Given the description of an element on the screen output the (x, y) to click on. 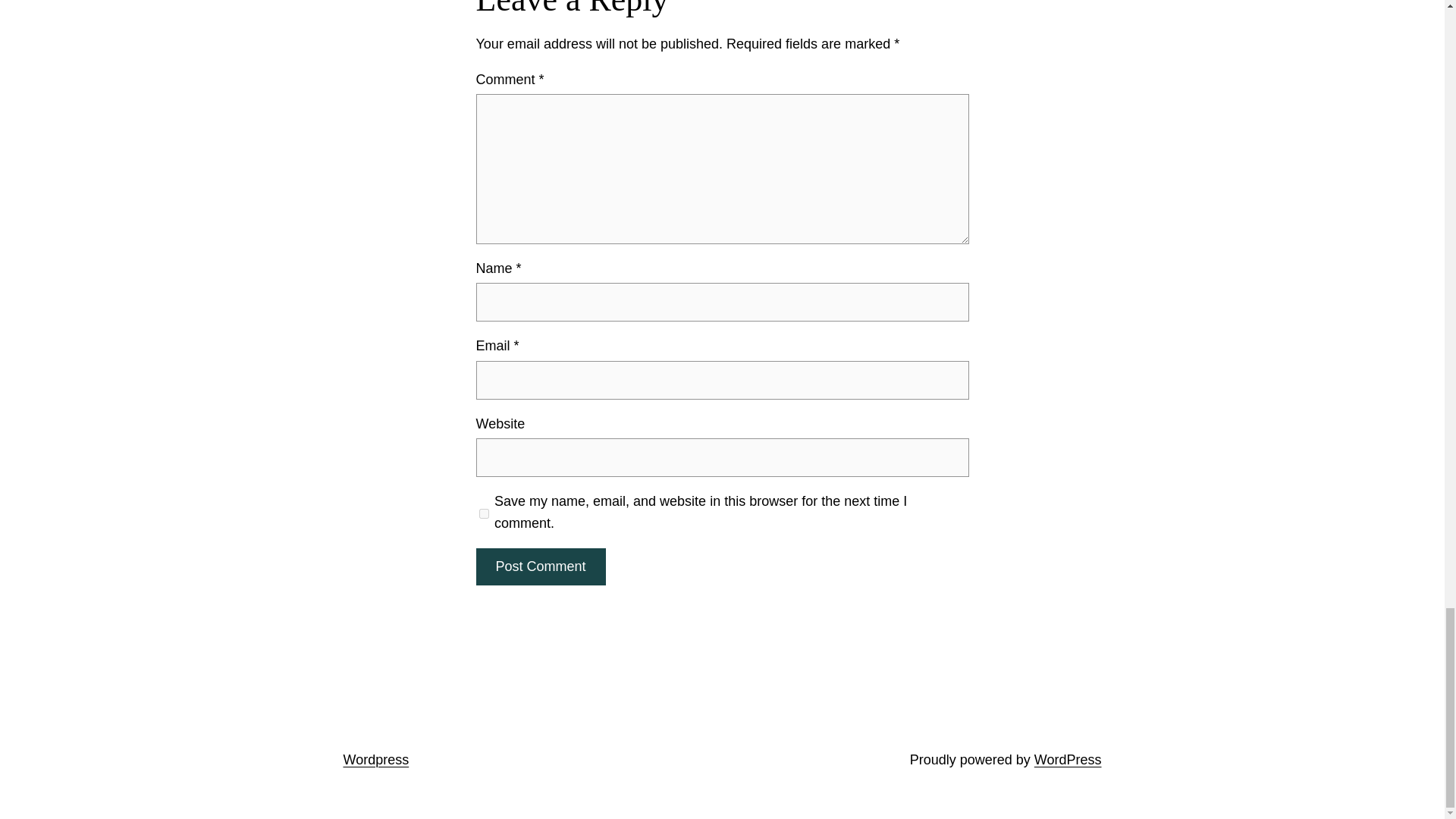
Wordpress (375, 759)
WordPress (1067, 759)
Post Comment (540, 565)
Post Comment (540, 565)
